Given the description of an element on the screen output the (x, y) to click on. 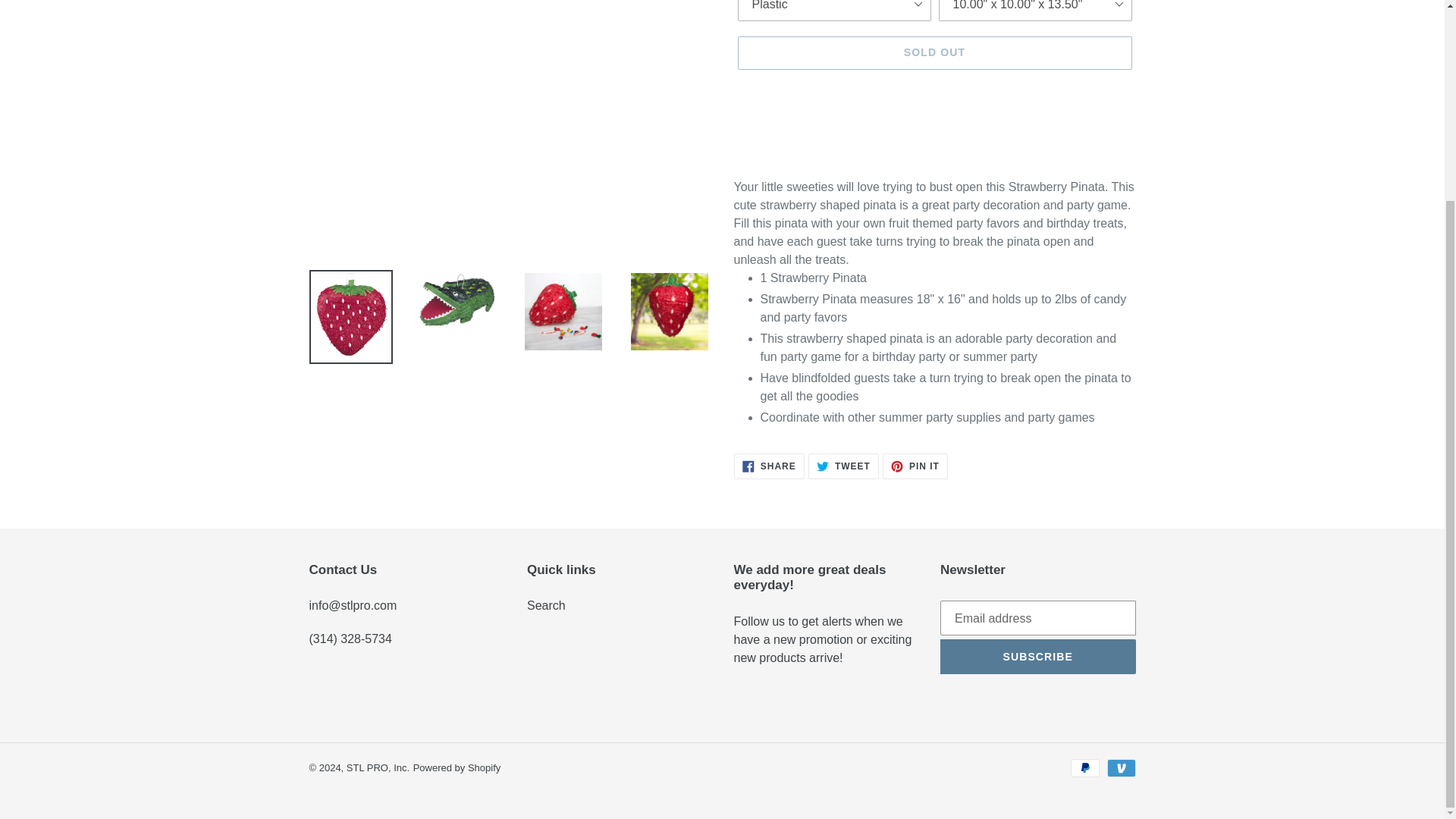
Search (546, 604)
SUBSCRIBE (1037, 656)
STL PRO, Inc. (769, 466)
Powered by Shopify (377, 767)
SOLD OUT (914, 466)
